Given the description of an element on the screen output the (x, y) to click on. 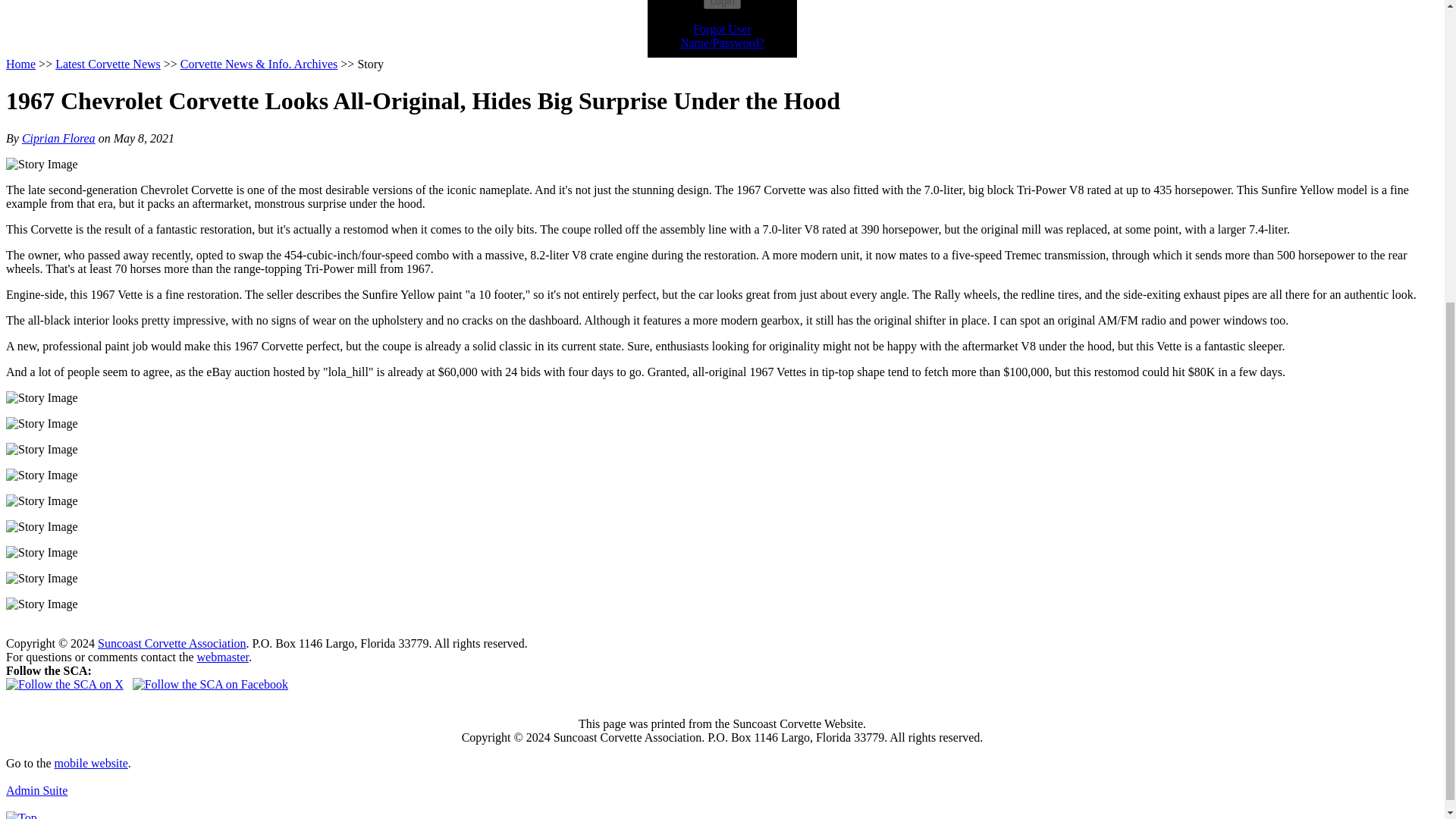
Admin Suite (35, 789)
Suncoast Corvette Association (171, 643)
Home (19, 63)
Login (722, 4)
Follow the SCA on X (64, 684)
Ciprian Florea (58, 137)
webmaster (222, 656)
Latest Corvette News (107, 63)
Login (722, 4)
mobile website (91, 762)
